Given the description of an element on the screen output the (x, y) to click on. 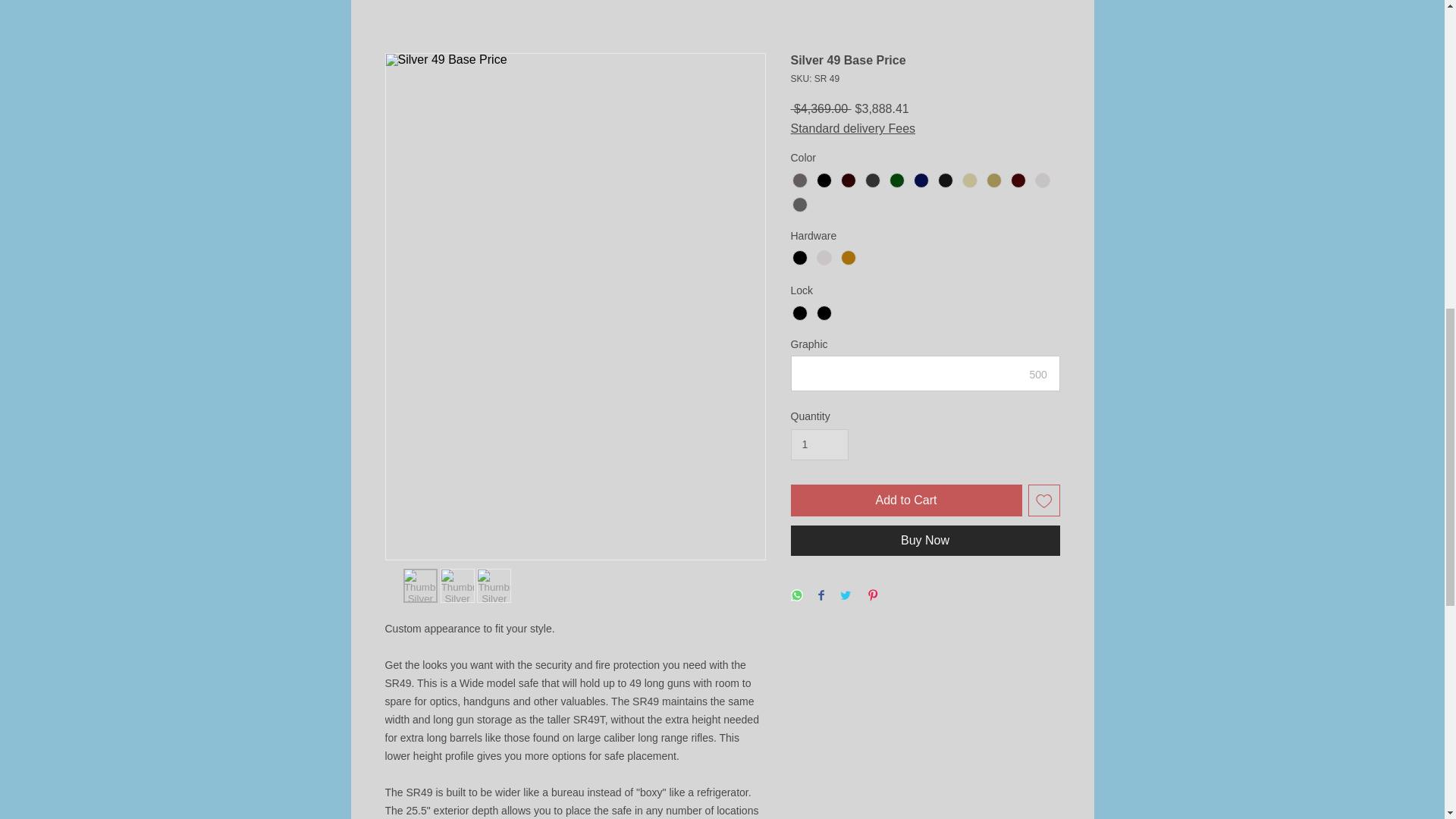
1 (818, 444)
